Given the description of an element on the screen output the (x, y) to click on. 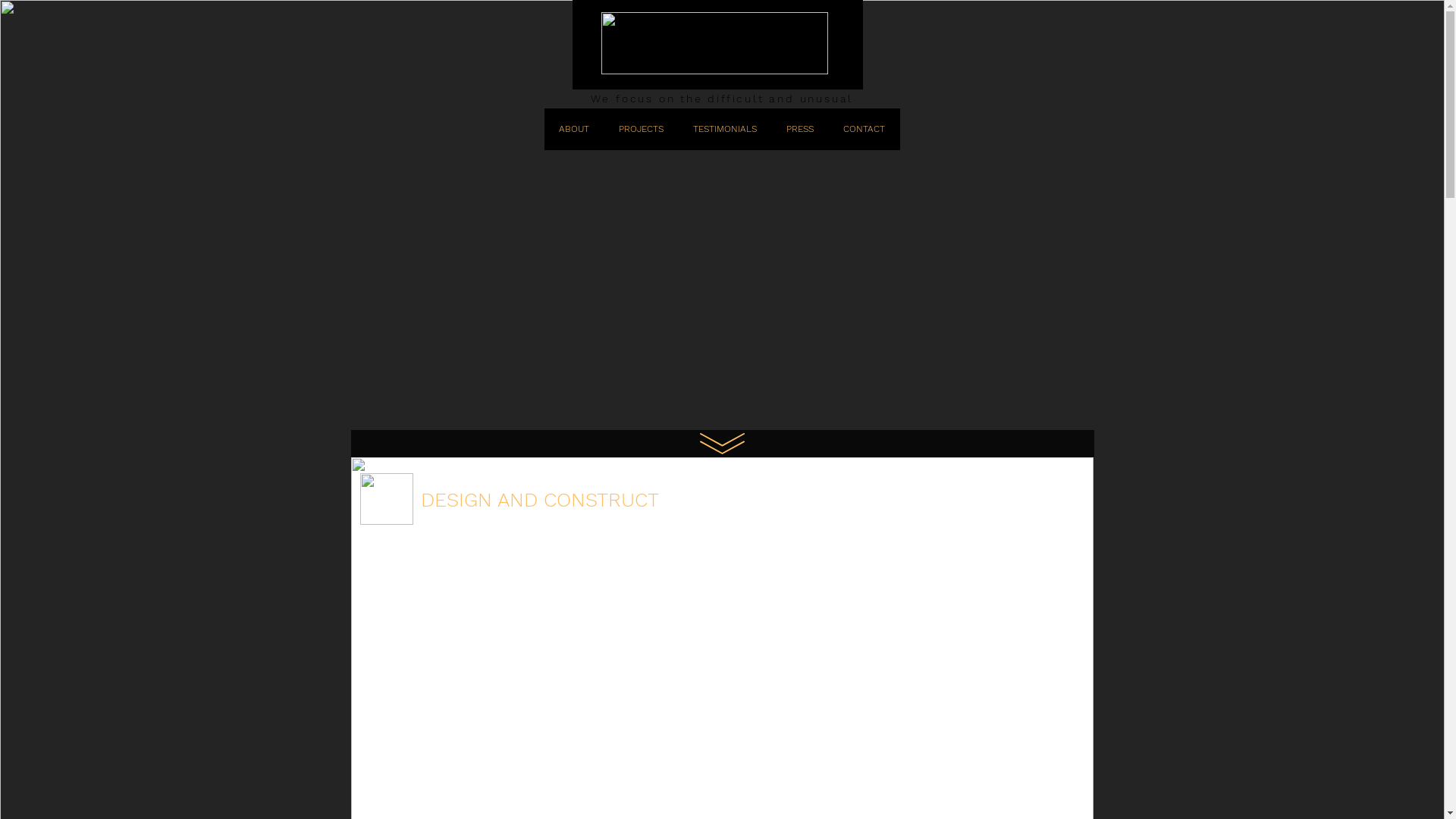
PRESS Element type: text (799, 128)
ABOUT Element type: text (574, 128)
PROJECTS Element type: text (640, 128)
CONTACT Element type: text (863, 128)
TESTIMONIALS Element type: text (724, 128)
We focus on the difficult and unusual Element type: text (721, 98)
